Given the description of an element on the screen output the (x, y) to click on. 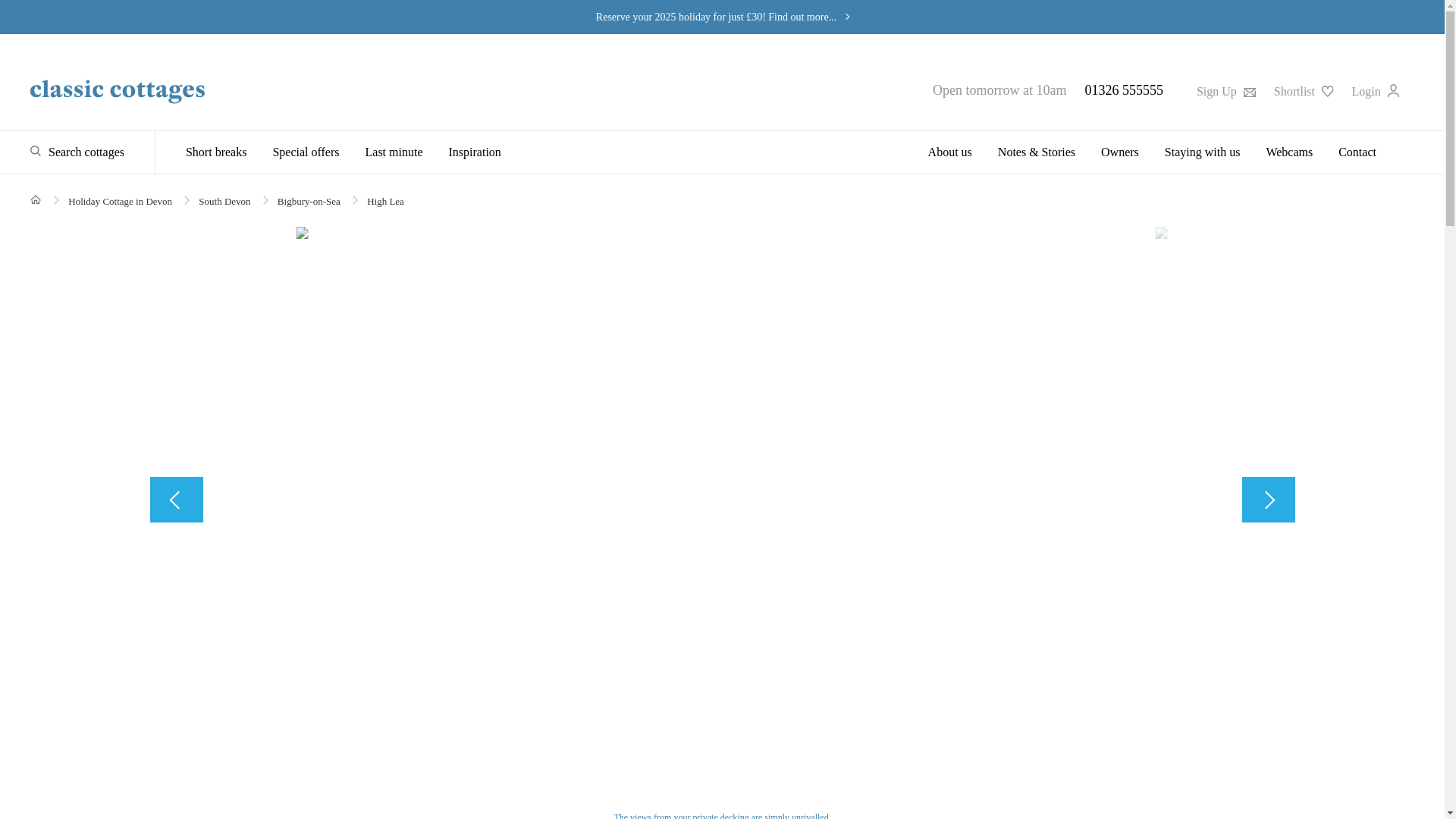
Search cottages (76, 152)
Sign Up (1225, 91)
Short breaks (221, 152)
01326 555555 (1123, 89)
Sign up (1225, 91)
Shortlist (1303, 91)
Login (1375, 91)
Holiday Cottage in Devon (119, 201)
Staying with us (1202, 152)
Special offers (305, 152)
